Given the description of an element on the screen output the (x, y) to click on. 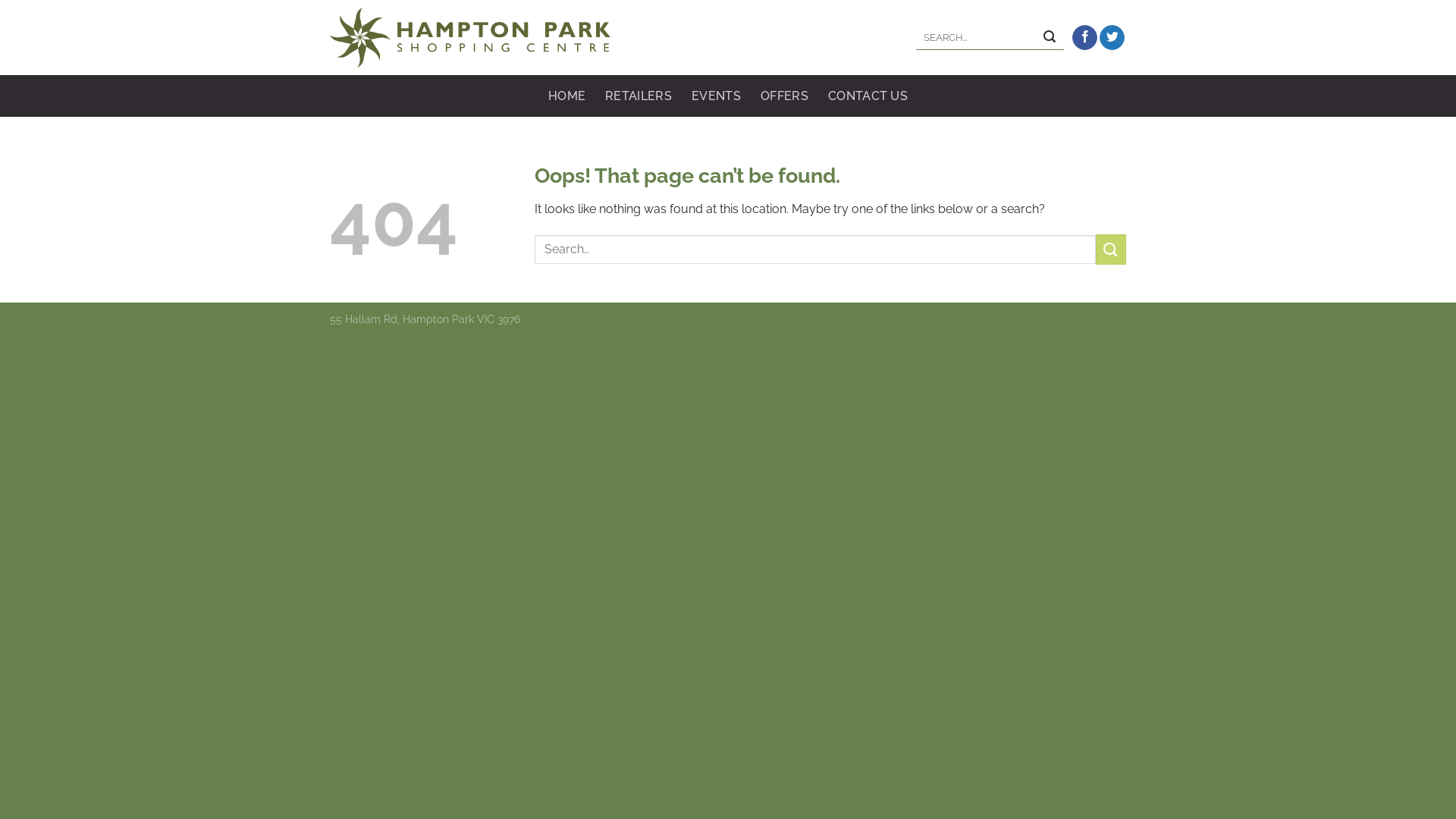
Follow on Facebook Element type: hover (1084, 37)
Follow on Twitter Element type: hover (1111, 37)
CONTACT US Element type: text (867, 95)
OFFERS Element type: text (784, 95)
EVENTS Element type: text (715, 95)
Skip to content Element type: text (0, 0)
RETAILERS Element type: text (638, 95)
HOME Element type: text (566, 95)
